Given the description of an element on the screen output the (x, y) to click on. 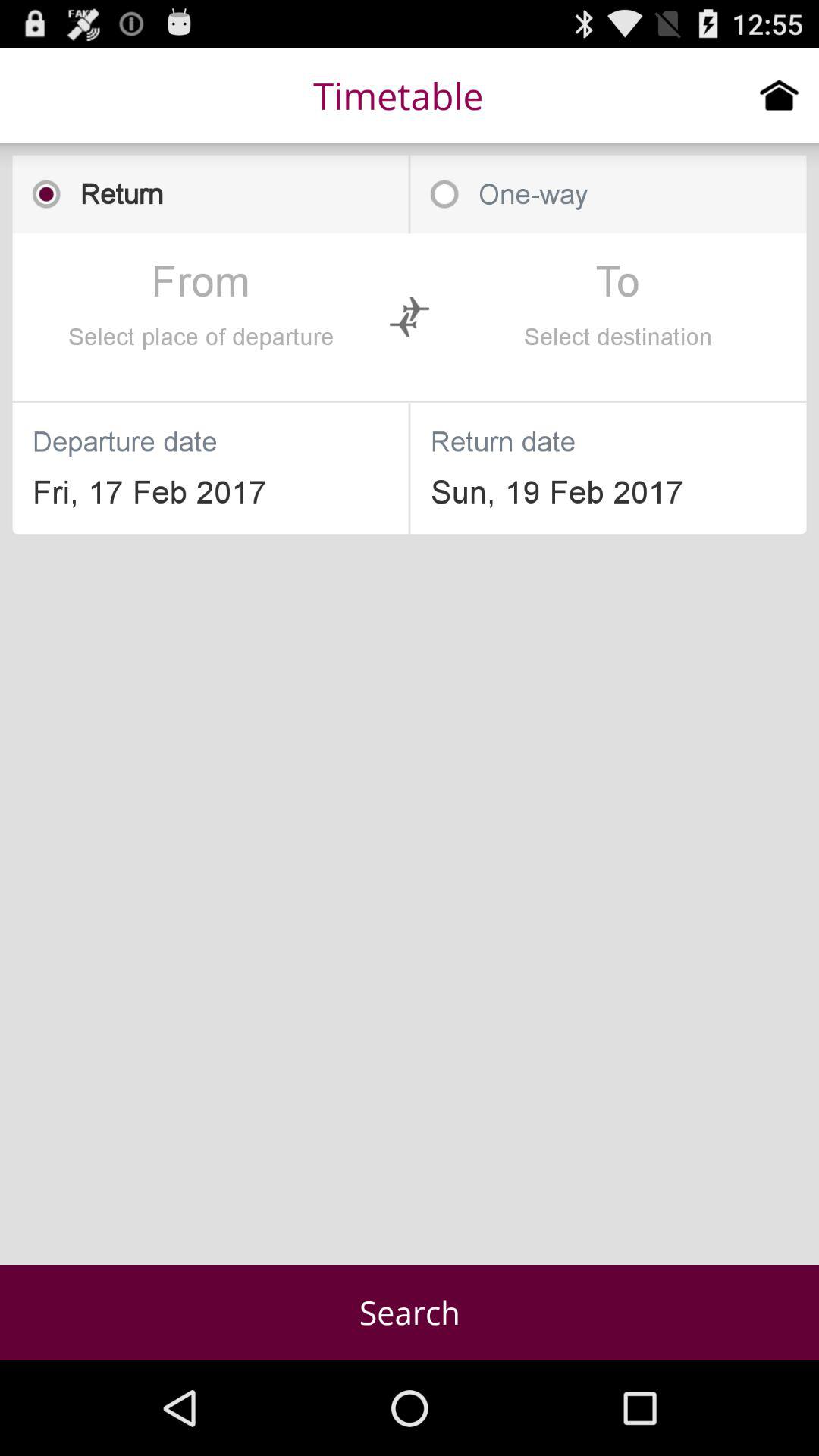
turn off icon next to timetable icon (779, 95)
